Given the description of an element on the screen output the (x, y) to click on. 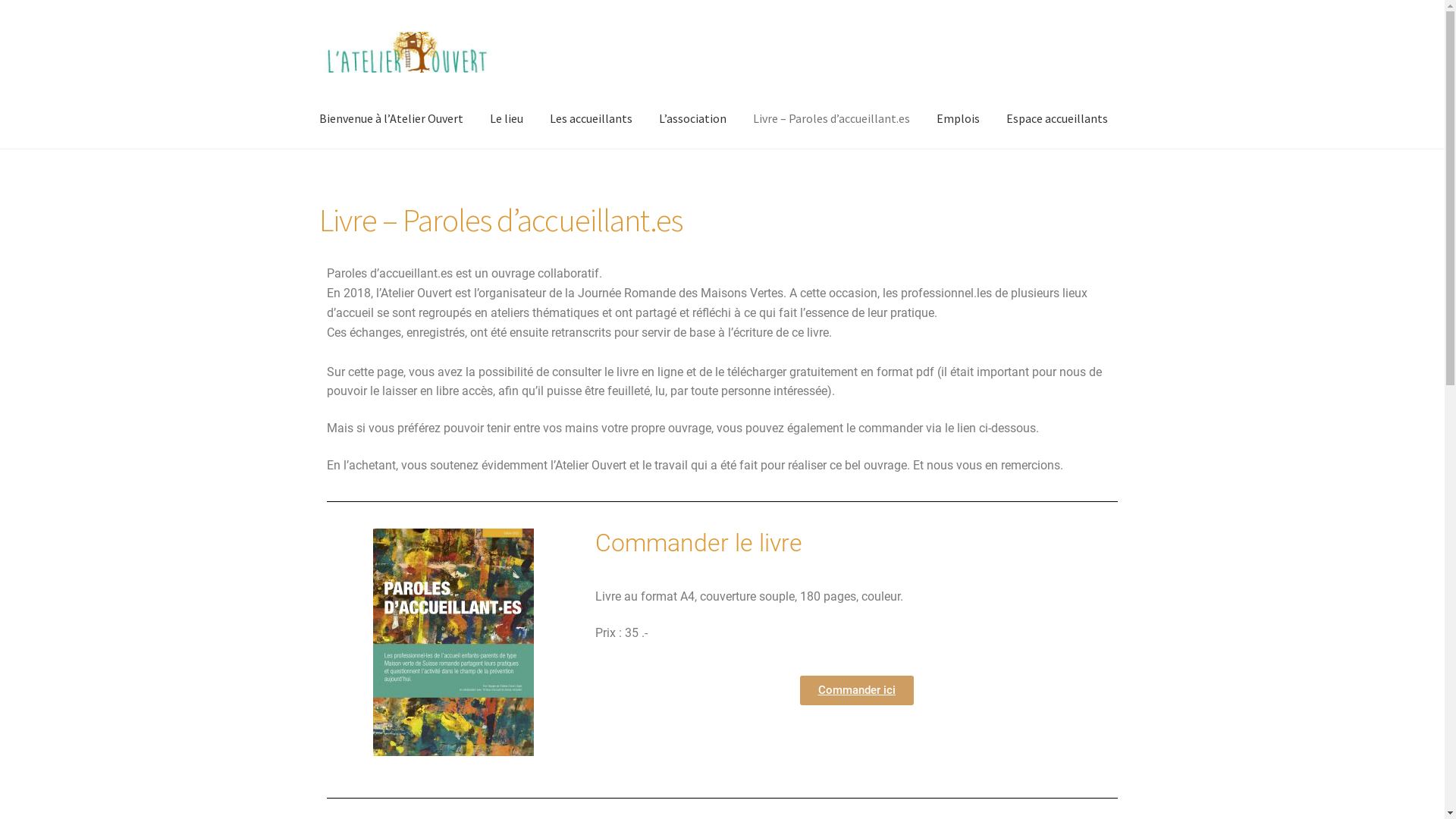
Emplois Element type: text (957, 118)
Le lieu Element type: text (506, 118)
Espace accueillants Element type: text (1057, 118)
Les accueillants Element type: text (590, 118)
Commander ici Element type: text (856, 690)
